Given the description of an element on the screen output the (x, y) to click on. 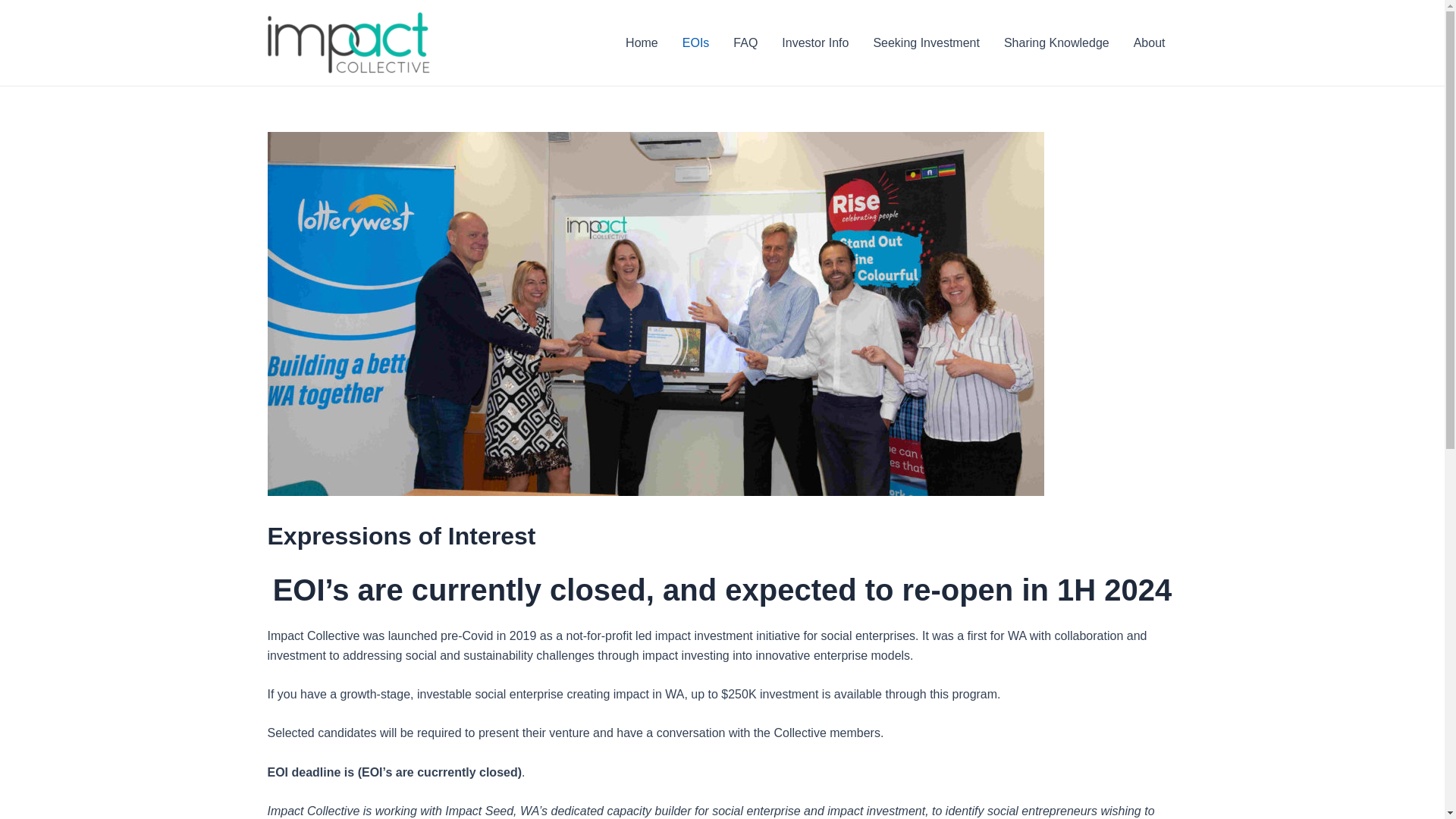
Sharing Knowledge Element type: text (1056, 42)
Investor Info Element type: text (814, 42)
FAQ Element type: text (745, 42)
Seeking Investment Element type: text (925, 42)
About Element type: text (1149, 42)
EOIs Element type: text (695, 42)
Home Element type: text (641, 42)
